Given the description of an element on the screen output the (x, y) to click on. 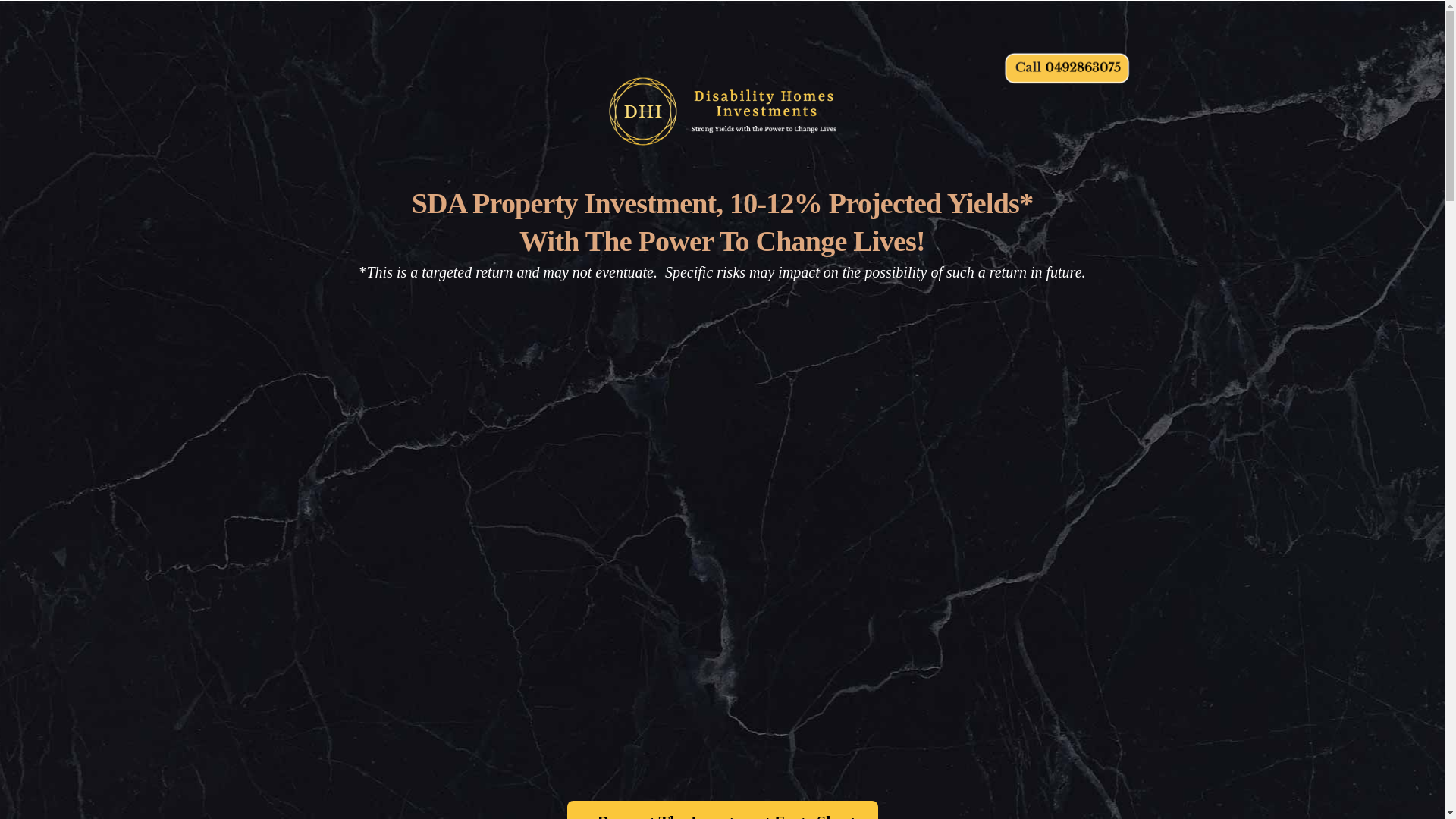
Logo_DHI-color Element type: hover (722, 111)
Call Me Now Element type: hover (1066, 68)
